Given the description of an element on the screen output the (x, y) to click on. 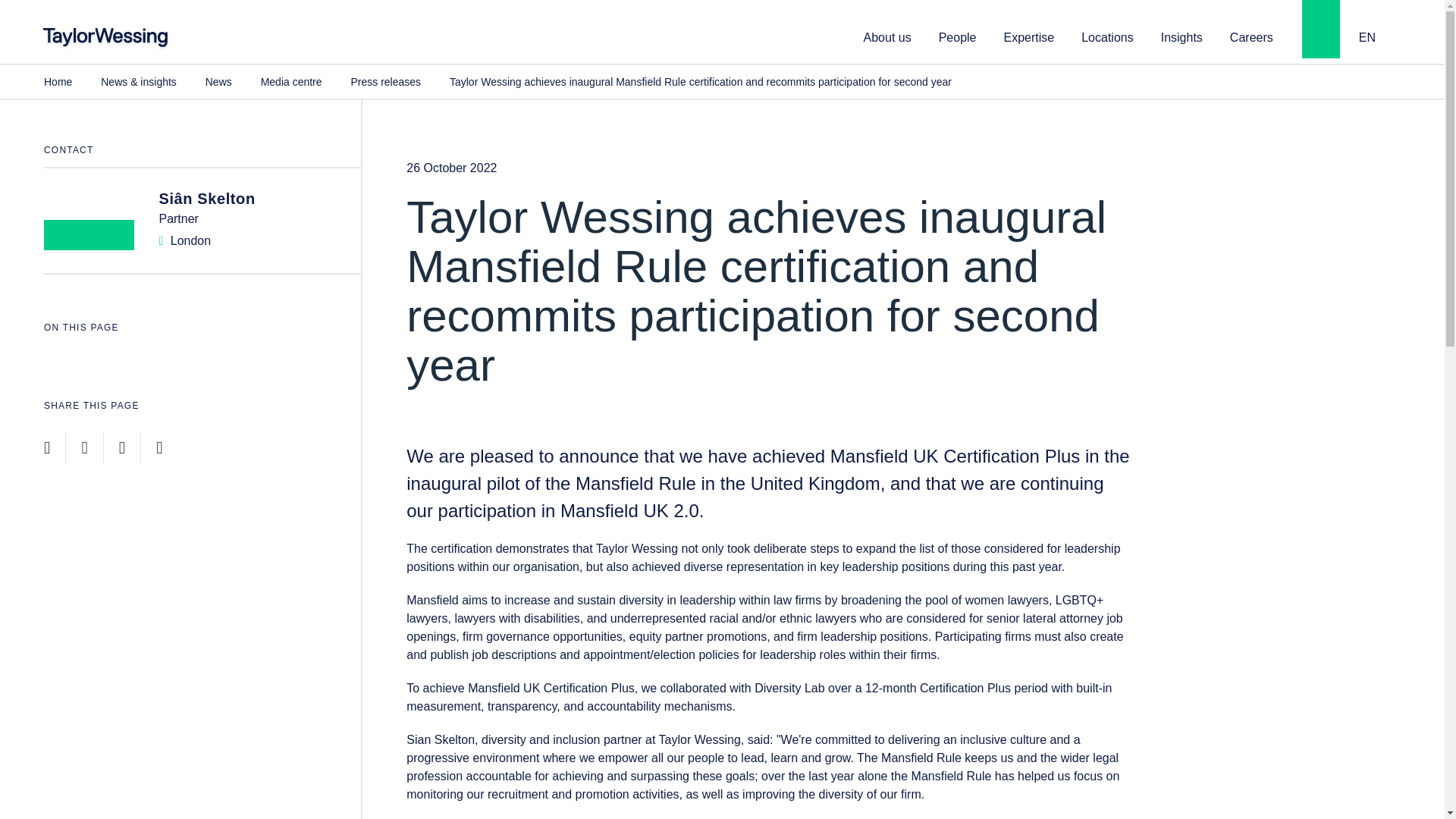
Facebook (84, 447)
Xing (158, 447)
About us (887, 35)
Linkedin (46, 447)
People (957, 35)
Expertise (1029, 35)
